Given the description of an element on the screen output the (x, y) to click on. 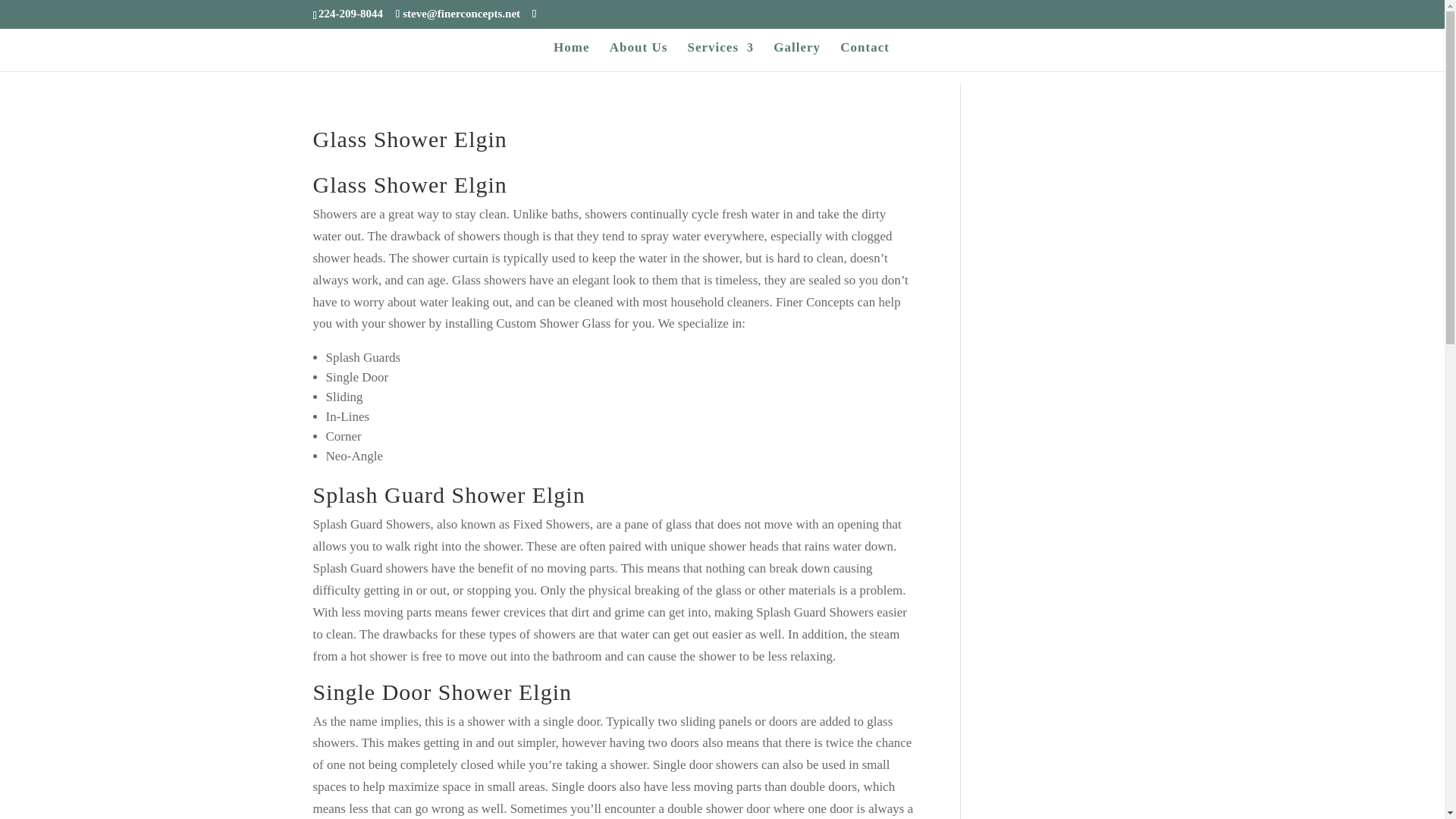
Services (720, 56)
Contact (864, 56)
About Us (639, 56)
Gallery (797, 56)
Home (571, 56)
